Given the description of an element on the screen output the (x, y) to click on. 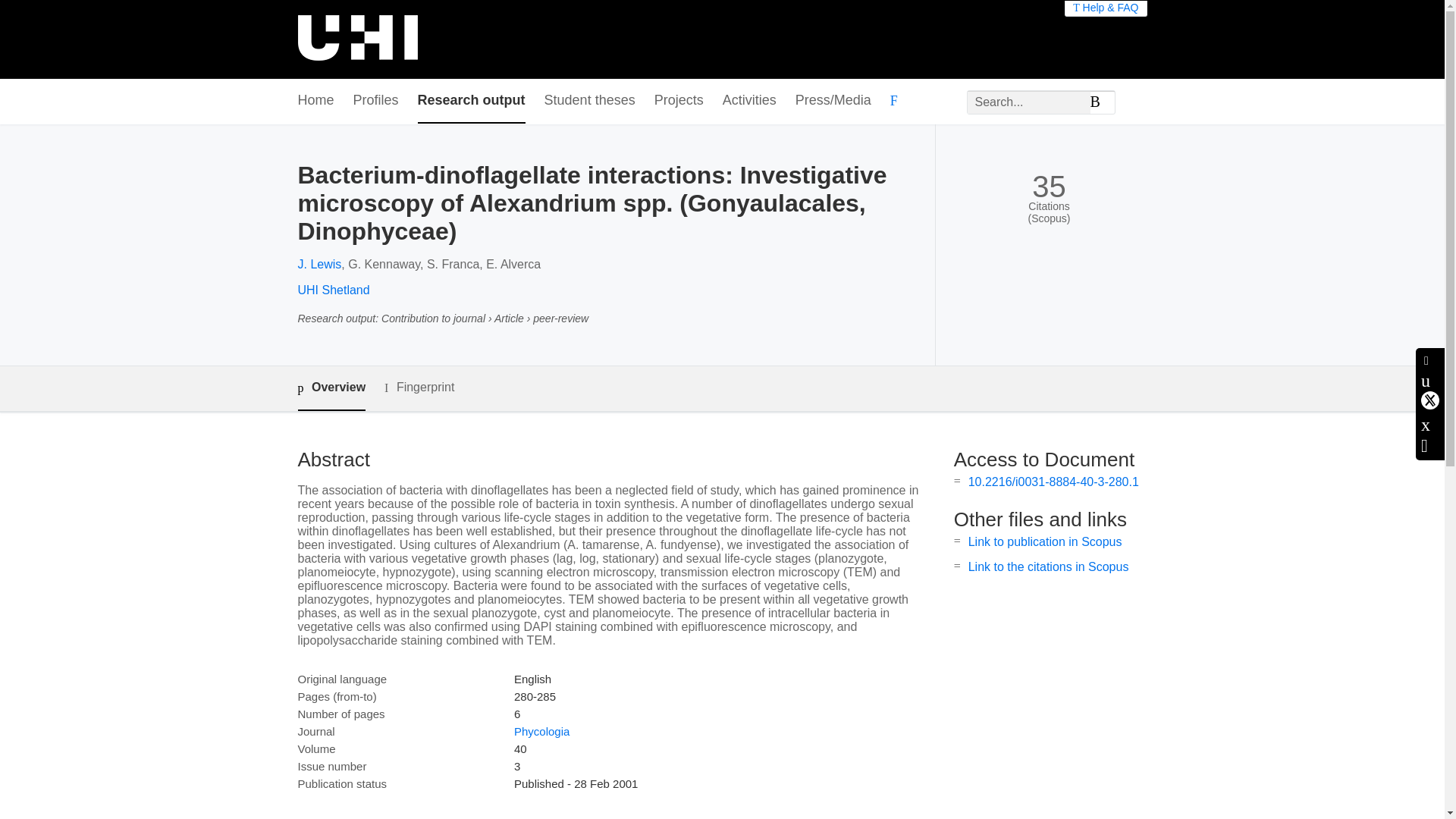
UHI Shetland (333, 289)
Fingerprint (419, 387)
Link to publication in Scopus (1045, 541)
Research output (471, 100)
Link to the citations in Scopus (1048, 566)
Phycologia (541, 730)
Profiles (375, 100)
Student theses (589, 100)
University of the Highlands and Islands Home (356, 39)
